Given the description of an element on the screen output the (x, y) to click on. 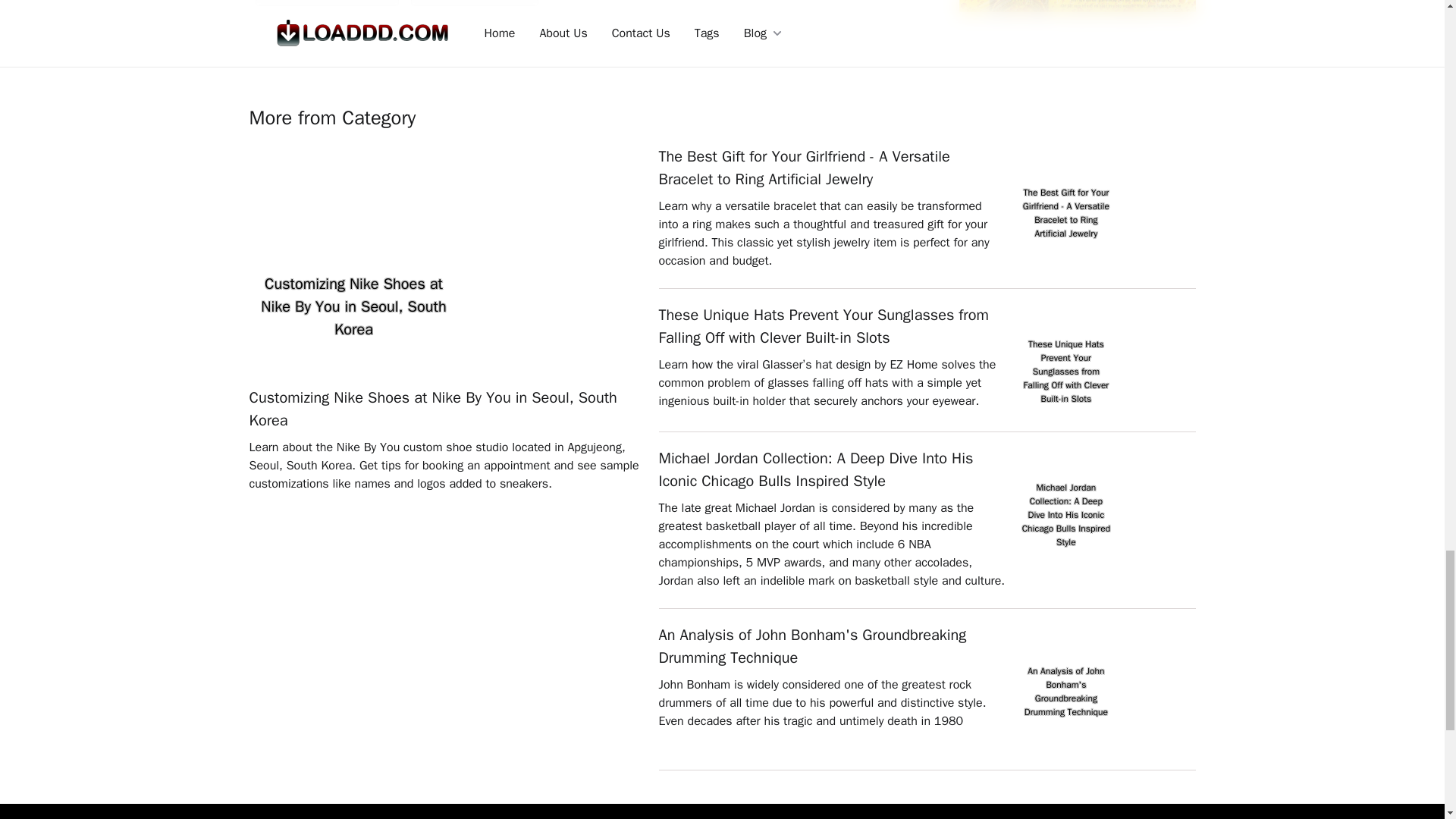
 whiter teeth Huntsville (474, 6)
Customizing Nike Shoes at Nike By You in Seoul, South Korea (445, 409)
lifestyle tips less staining (326, 6)
whiter teeth Huntsville (474, 6)
 lifestyle tips less staining (326, 6)
